Given the description of an element on the screen output the (x, y) to click on. 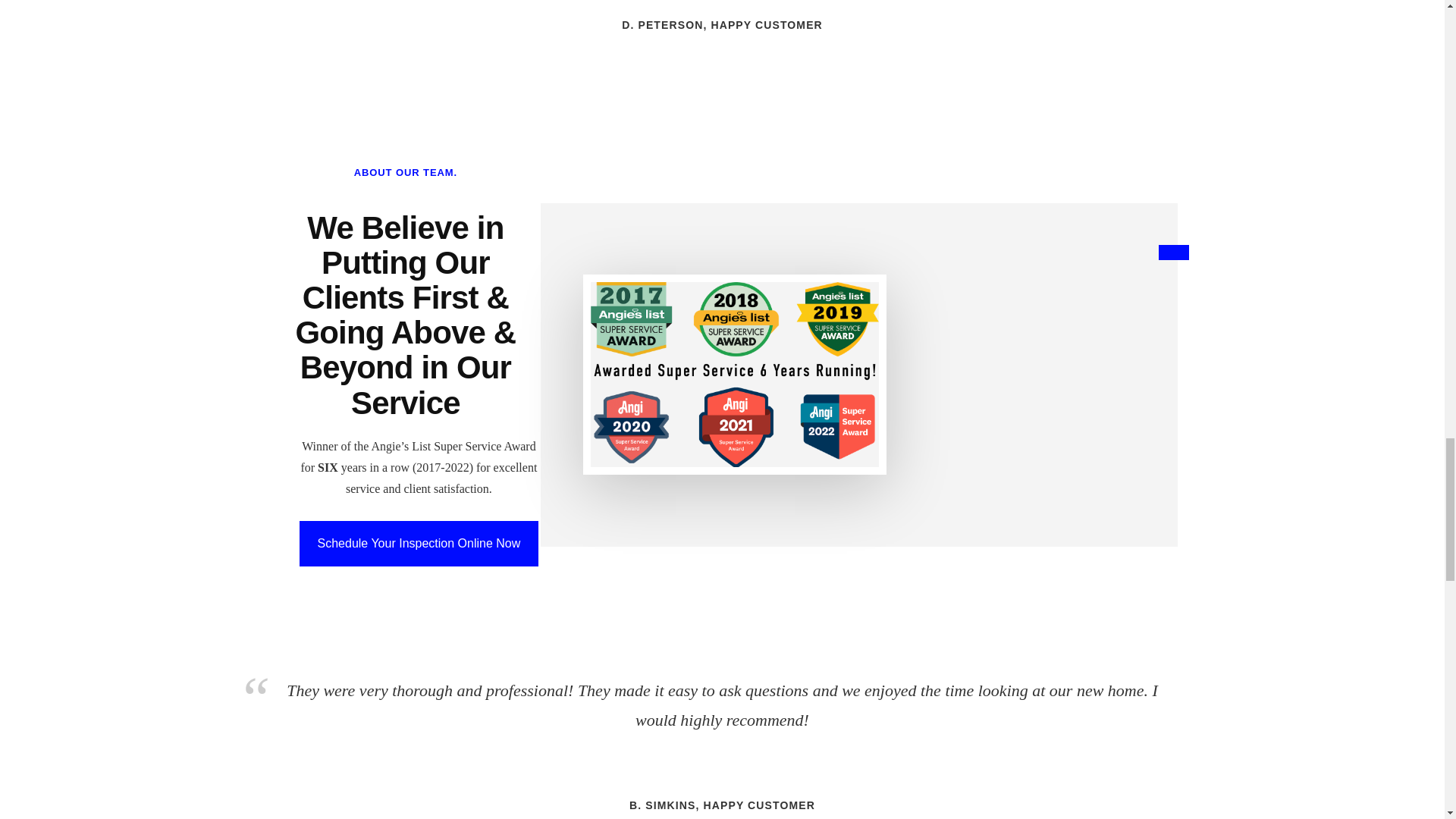
Schedule Your Inspection Online Now (418, 543)
